Given the description of an element on the screen output the (x, y) to click on. 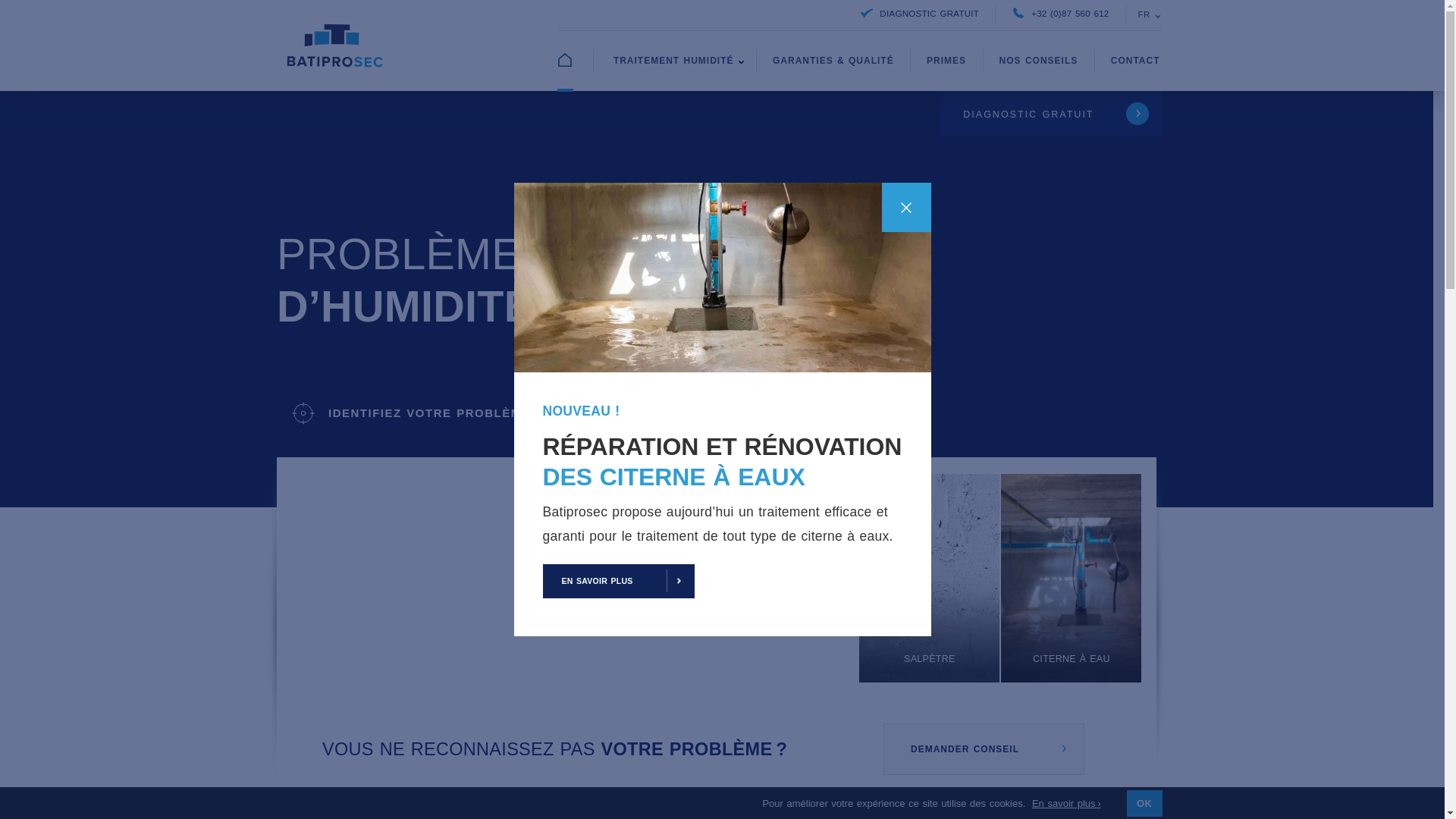
NOS CONSEILS Element type: text (1038, 61)
+32 (0)87 560 612 Element type: text (1060, 14)
EN SAVOIR PLUS Element type: text (618, 581)
OK Element type: text (1144, 803)
CAVE HUMIDE Element type: text (787, 577)
ACCUEIL Element type: text (574, 61)
CONTACT Element type: text (1135, 61)
FR Element type: text (1145, 15)
PRIMES Element type: text (946, 61)
DIAGNOSTIC GRATUIT Element type: text (919, 14)
INFILTRATION Element type: text (503, 577)
